Given the description of an element on the screen output the (x, y) to click on. 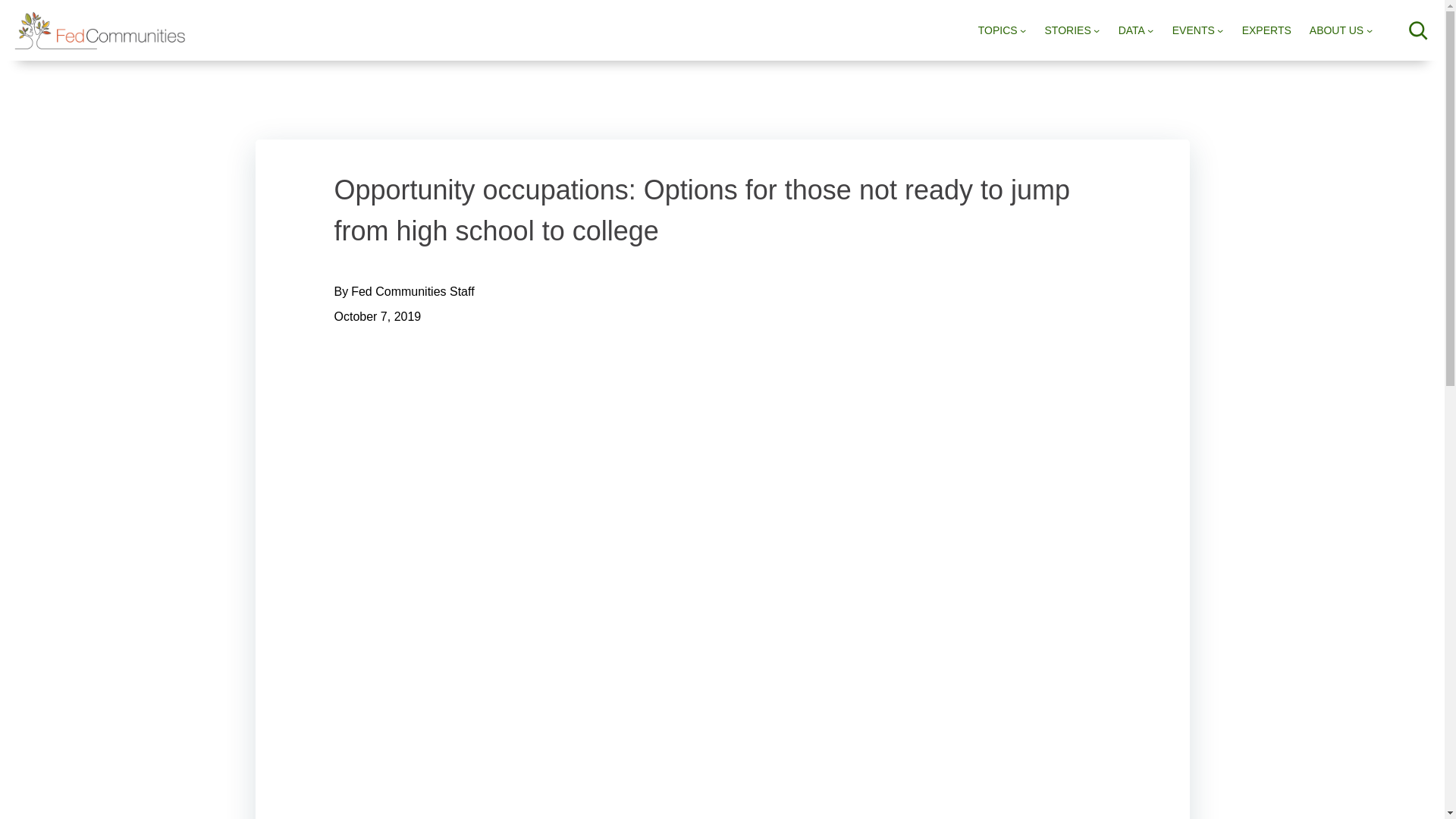
DATA (1131, 30)
EVENTS (1193, 30)
STORIES (1067, 30)
TOPICS (997, 30)
